Given the description of an element on the screen output the (x, y) to click on. 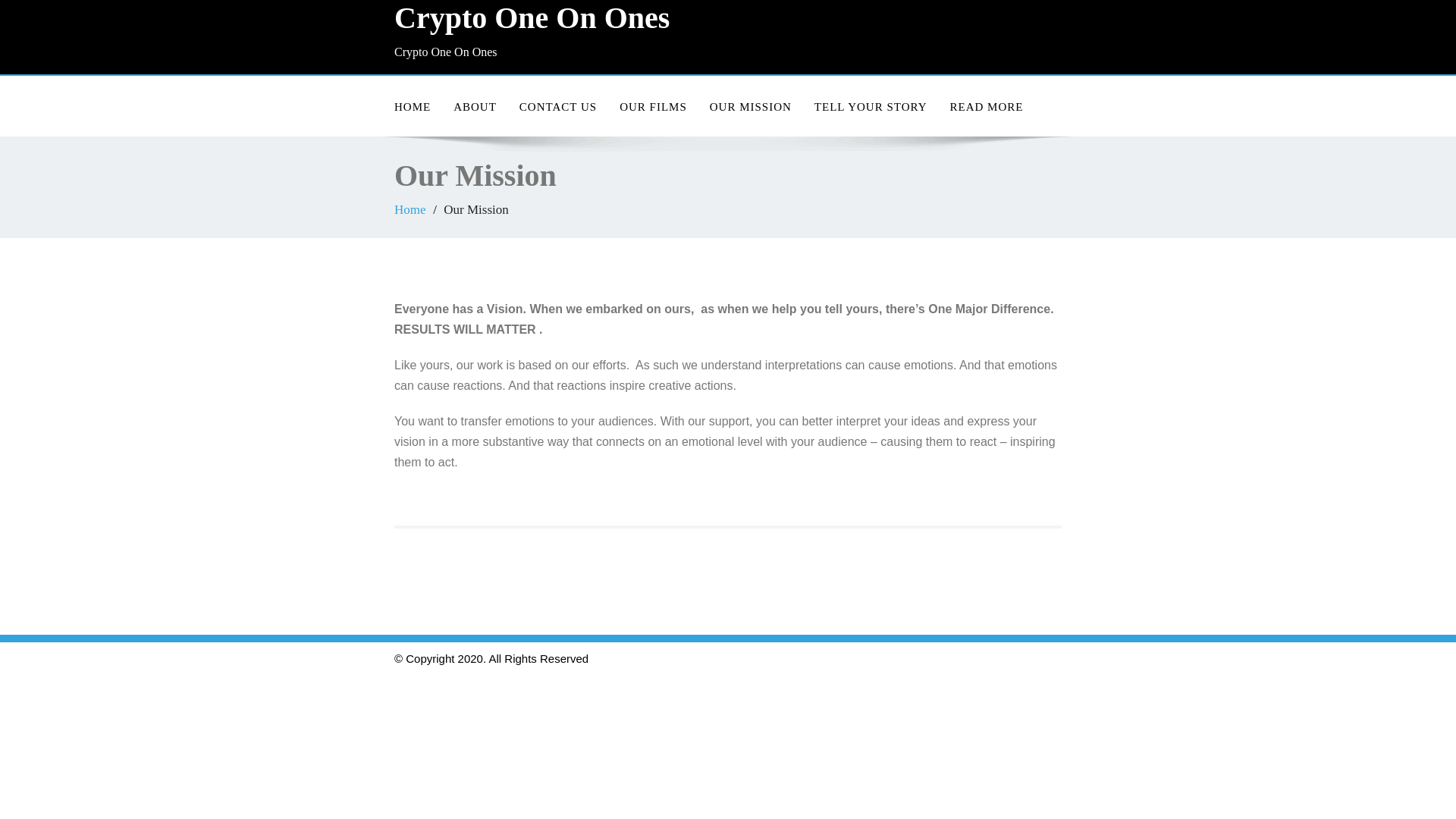
ABOUT (475, 106)
HOME (412, 106)
READ MORE (985, 106)
Home (412, 106)
OUR FILMS (653, 106)
OUR MISSION (750, 106)
Home (410, 209)
Crypto One On Ones (555, 18)
CONTACT US (558, 106)
Crypto One On Ones (555, 18)
TELL YOUR STORY (871, 106)
